Given the description of an element on the screen output the (x, y) to click on. 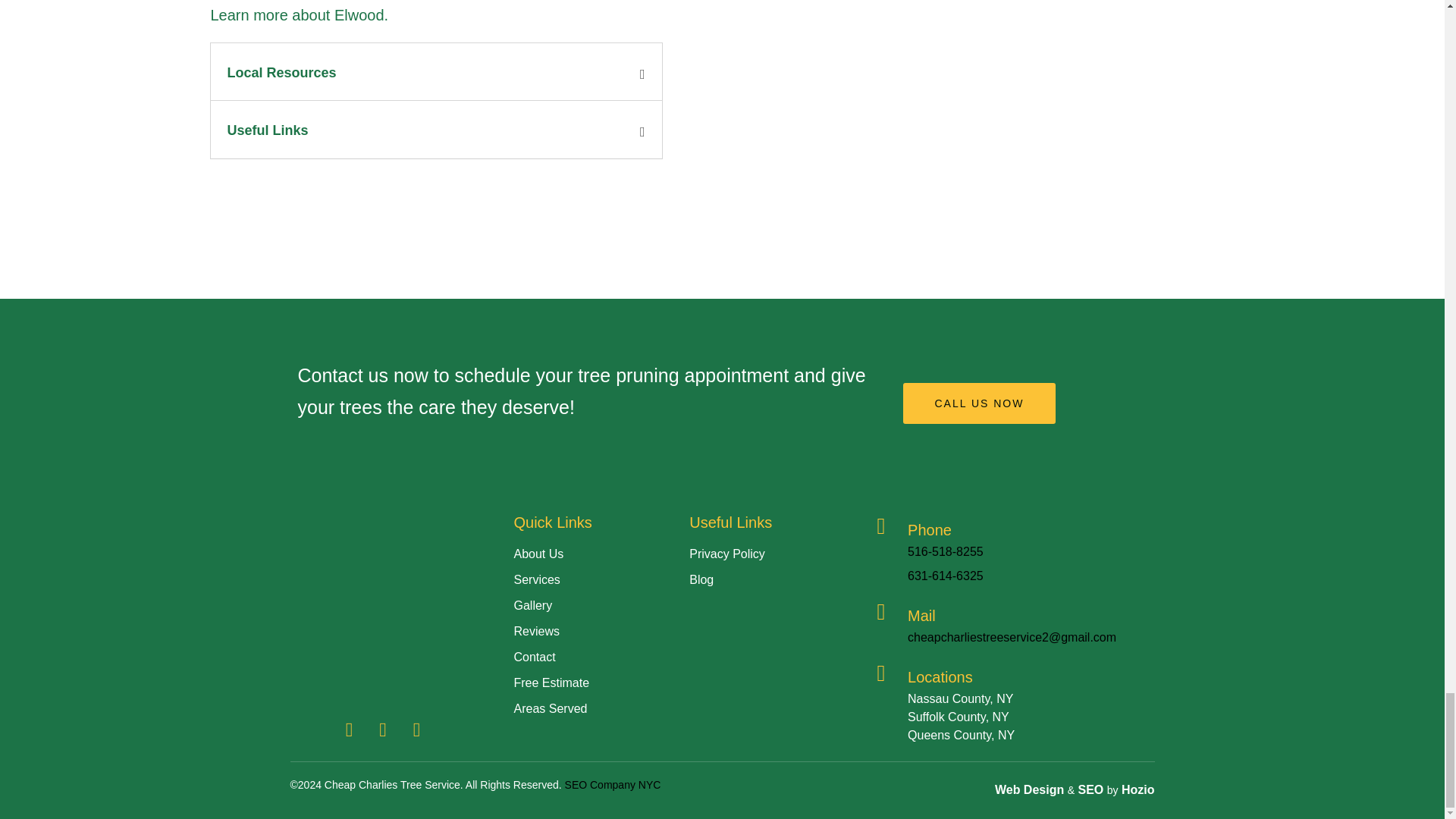
Learn more about Elwood. (299, 14)
Local Resources (281, 72)
